Given the description of an element on the screen output the (x, y) to click on. 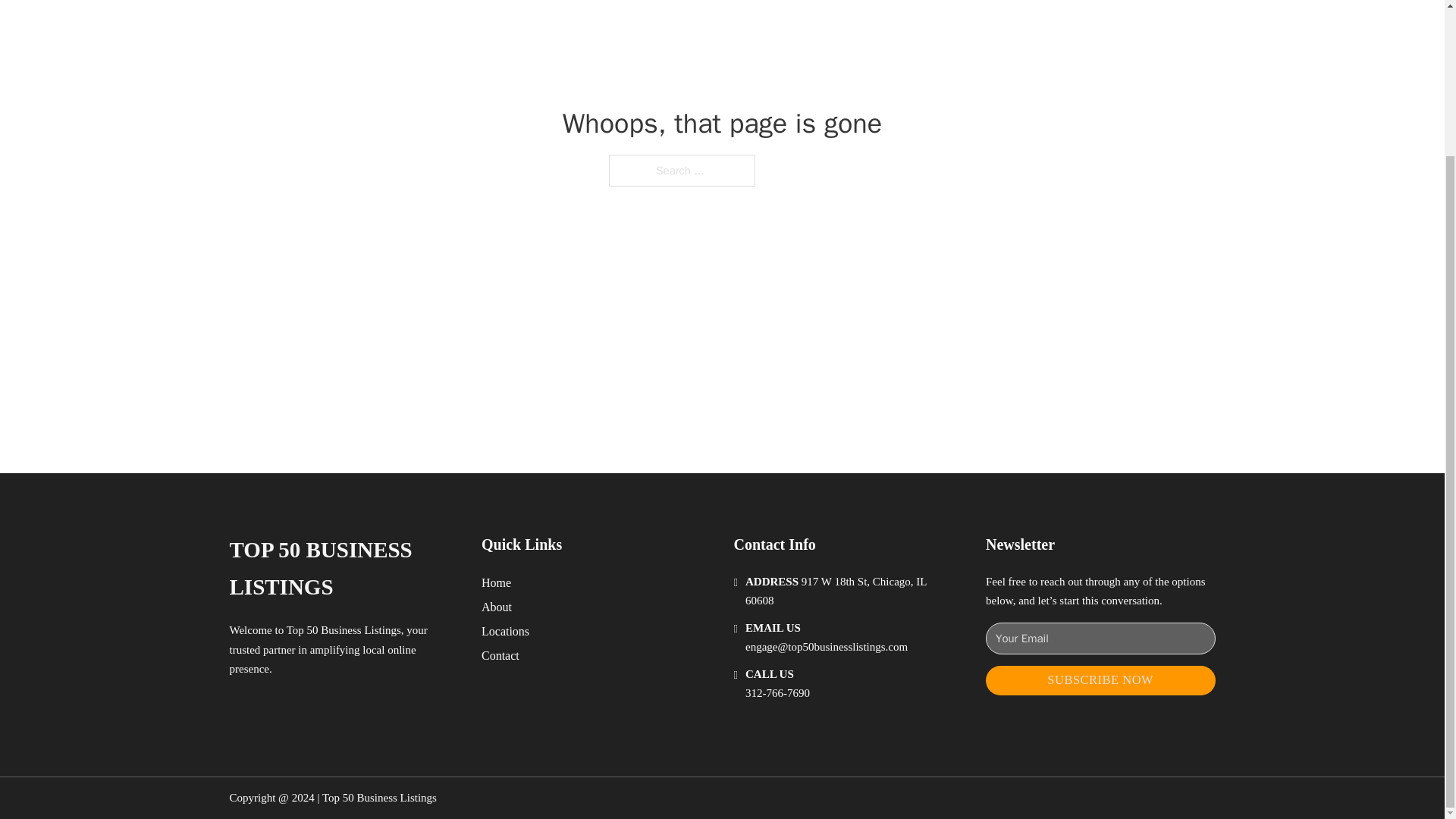
Locations (505, 630)
Home (496, 582)
SUBSCRIBE NOW (1100, 680)
Contact (500, 655)
312-766-7690 (777, 693)
TOP 50 BUSINESS LISTINGS (343, 568)
About (496, 607)
